Given the description of an element on the screen output the (x, y) to click on. 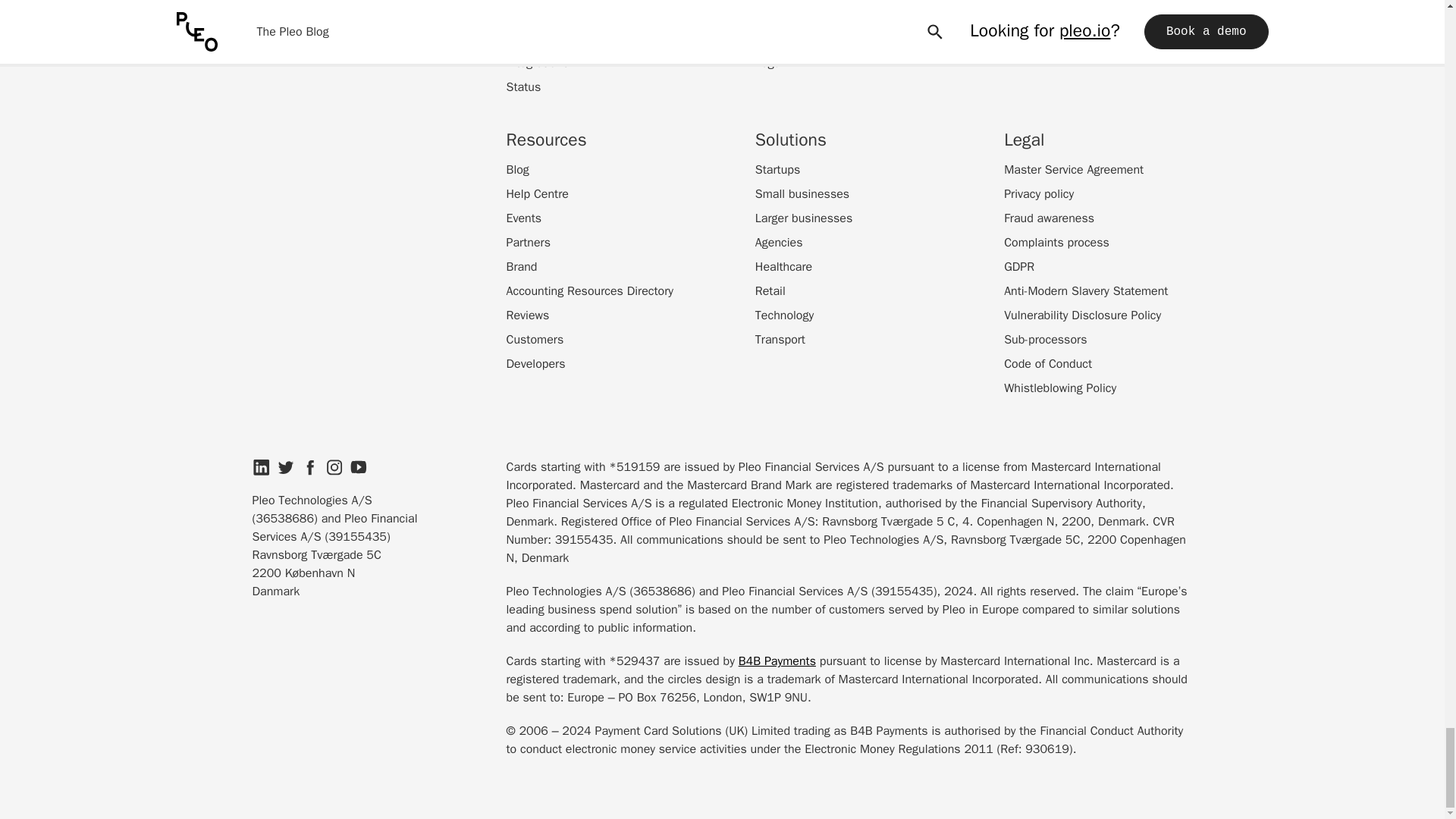
Legal (769, 63)
Contact us (783, 38)
Pricing (523, 38)
Integrations (537, 63)
FAQ (516, 13)
Press (769, 13)
Status (523, 86)
